Given the description of an element on the screen output the (x, y) to click on. 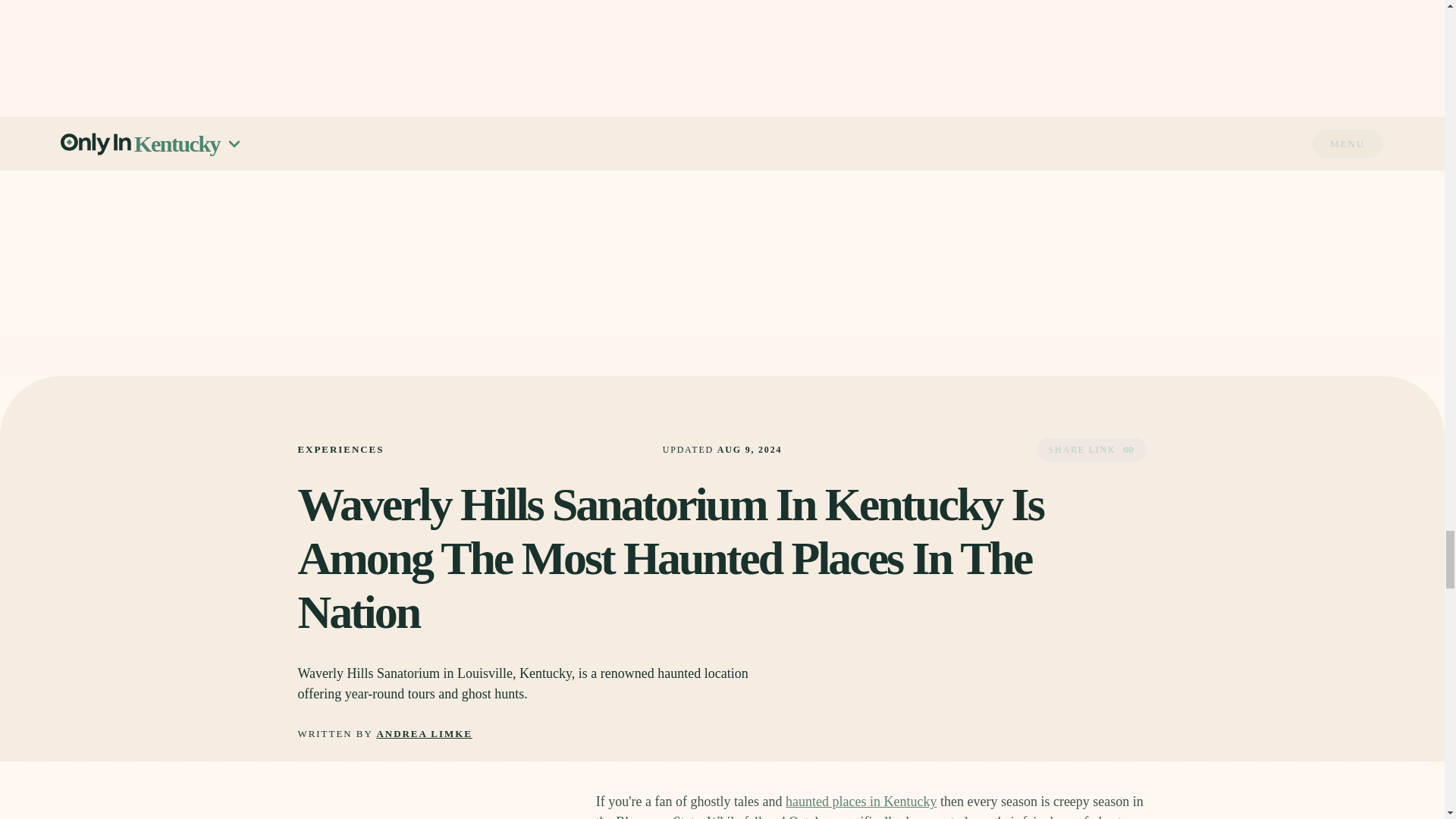
CHOOSE YOUR STATE (871, 13)
SHARE LINK (1091, 449)
EXPERIENCES (340, 449)
haunted places in Kentucky (861, 801)
SUBSCRIBE (1075, 55)
ANDREA LIMKE (424, 734)
